Given the description of an element on the screen output the (x, y) to click on. 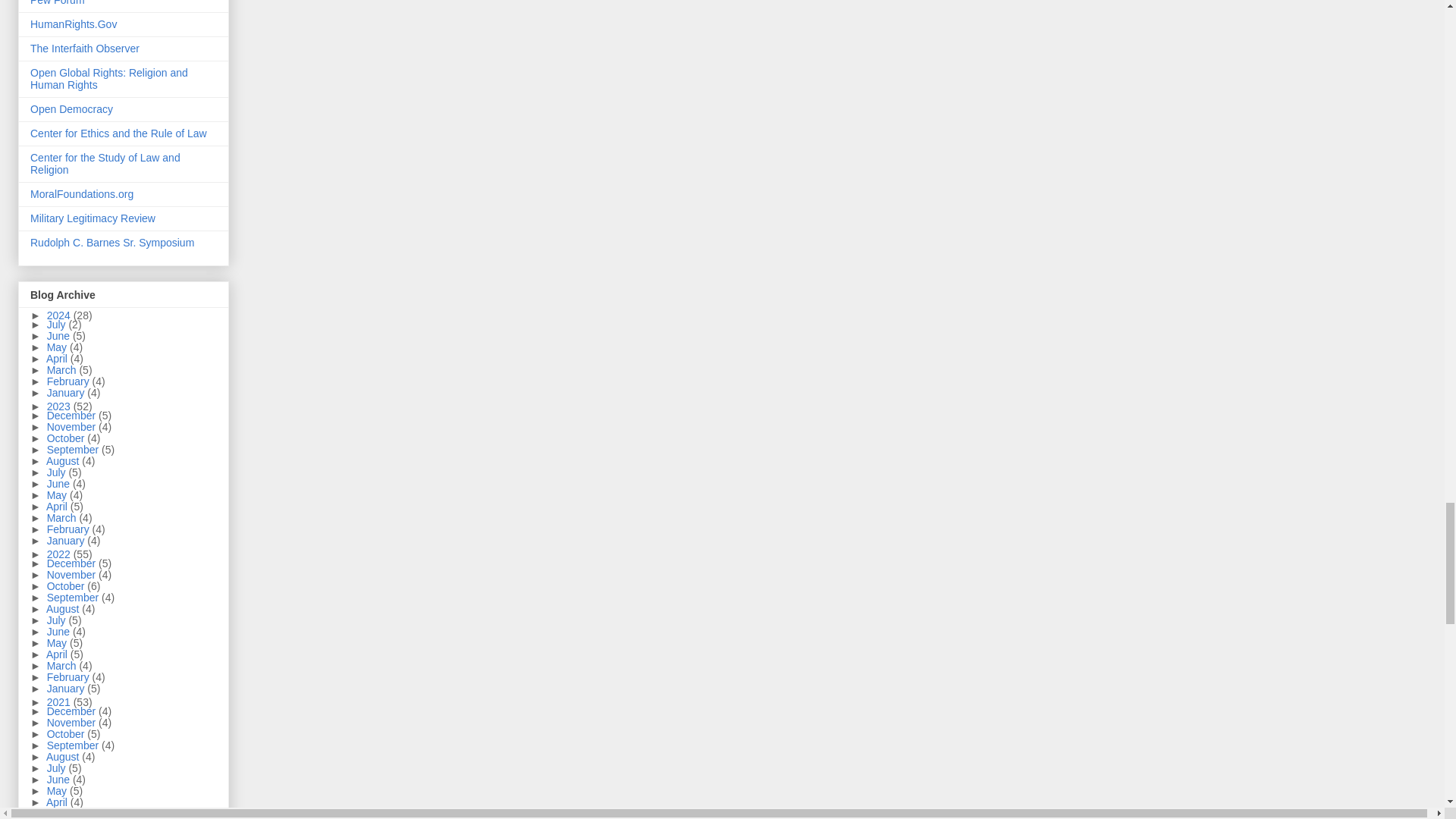
Center for Ethics and the Rule of Law (118, 133)
MoralFoundations.org (81, 193)
HumanRights.Gov (73, 24)
2024 (60, 315)
Open Democracy (71, 109)
Pew Forum (57, 2)
Center for the Study of Law and Religion (105, 163)
The Interfaith Observer (84, 48)
Open Global Rights: Religion and Human Rights (108, 78)
Rudolph C. Barnes Sr. Symposium (111, 242)
Military Legitimacy Review (92, 218)
